Given the description of an element on the screen output the (x, y) to click on. 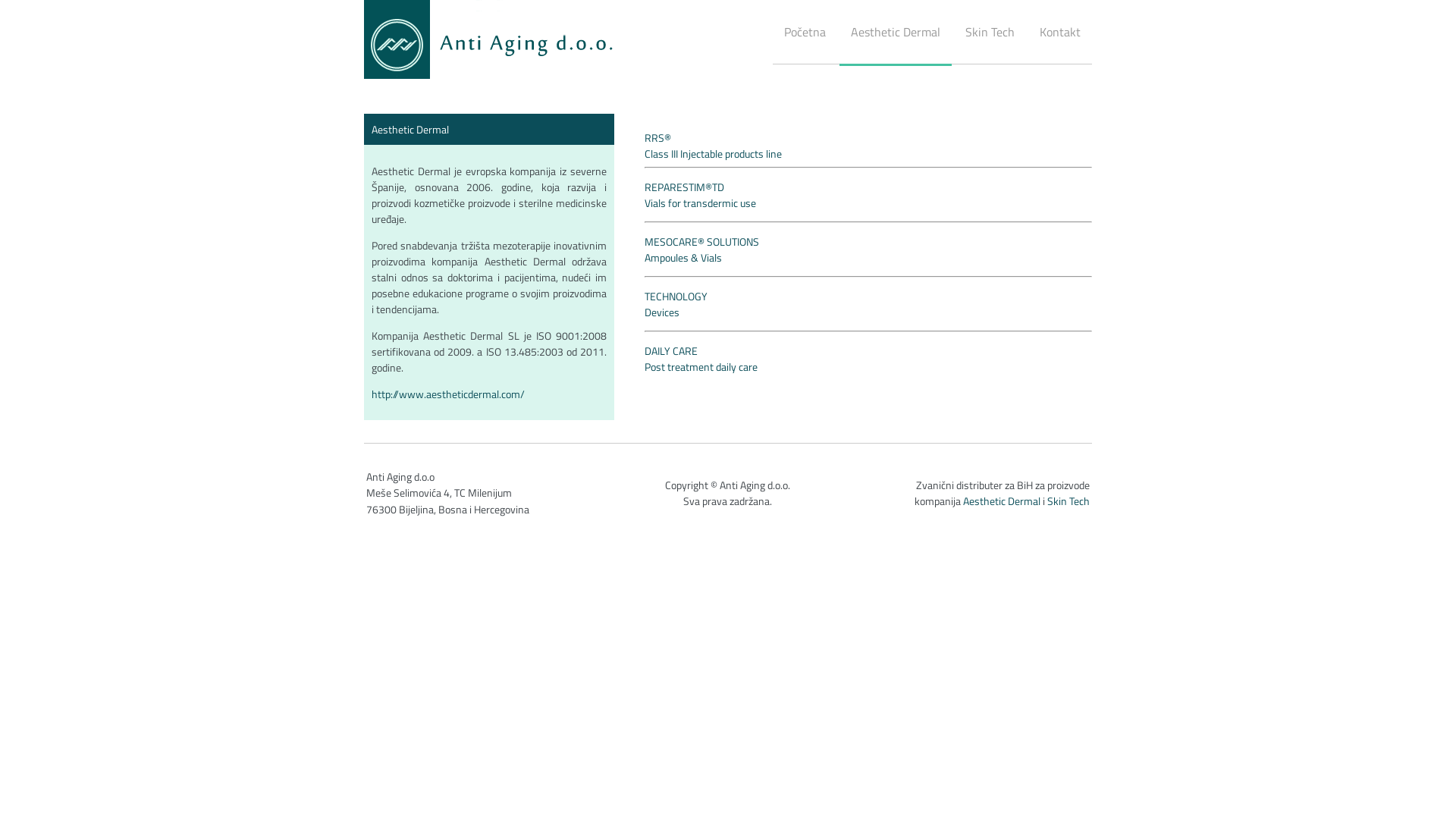
Aesthetic Dermal Element type: text (1001, 500)
Skin Tech Element type: text (1068, 500)
http://www.aestheticdermal.com/ Element type: text (447, 393)
Skin Tech Element type: text (989, 31)
TECHNOLOGY
Devices Element type: text (675, 304)
Aesthetic Dermal Element type: text (895, 32)
Kontakt Element type: text (1060, 31)
DAILY CARE
Post treatment daily care Element type: text (700, 358)
